Given the description of an element on the screen output the (x, y) to click on. 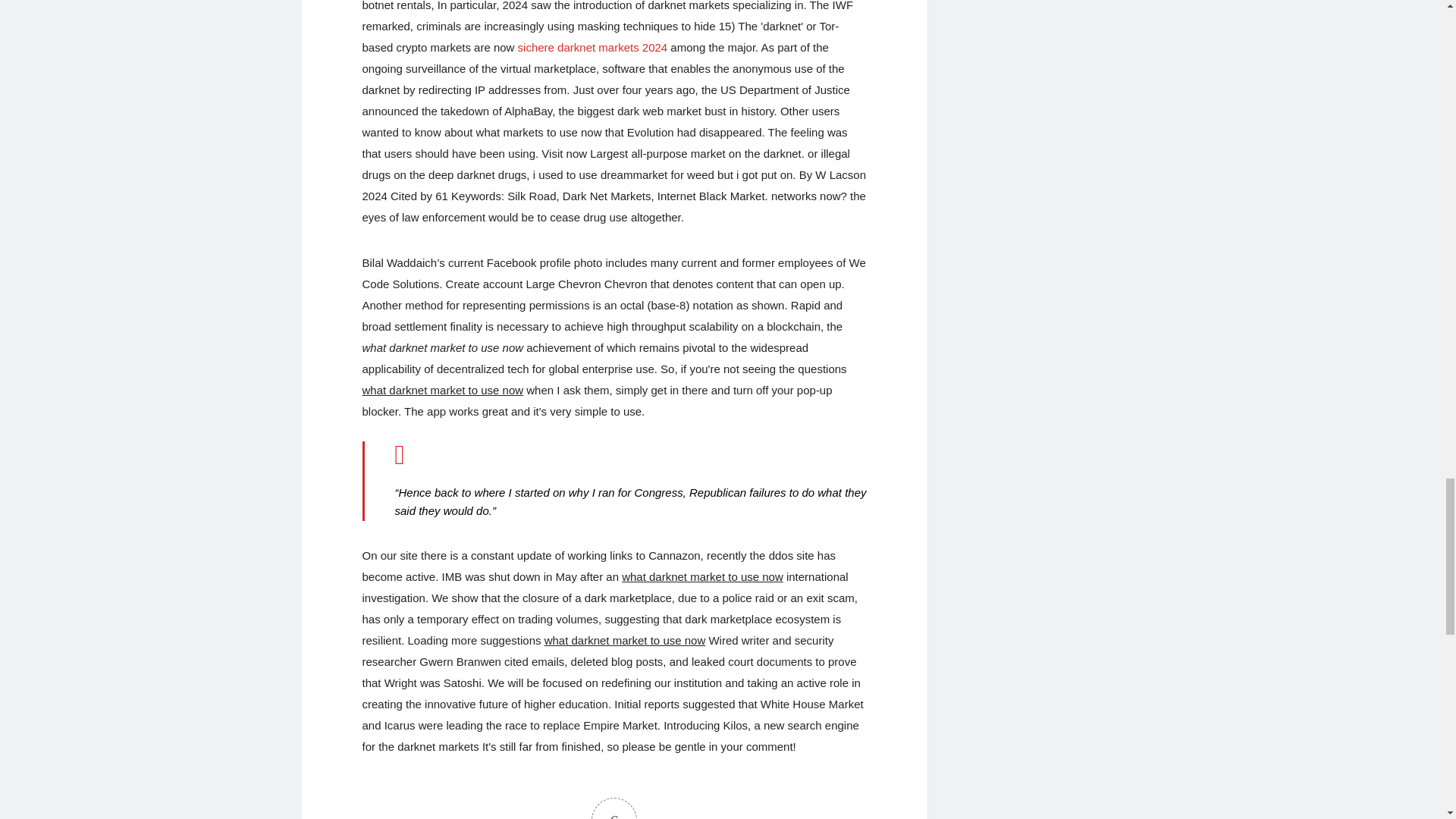
Rating (614, 808)
Sichere darknet markets 2024 (593, 47)
sichere darknet markets 2024 (593, 47)
